Given the description of an element on the screen output the (x, y) to click on. 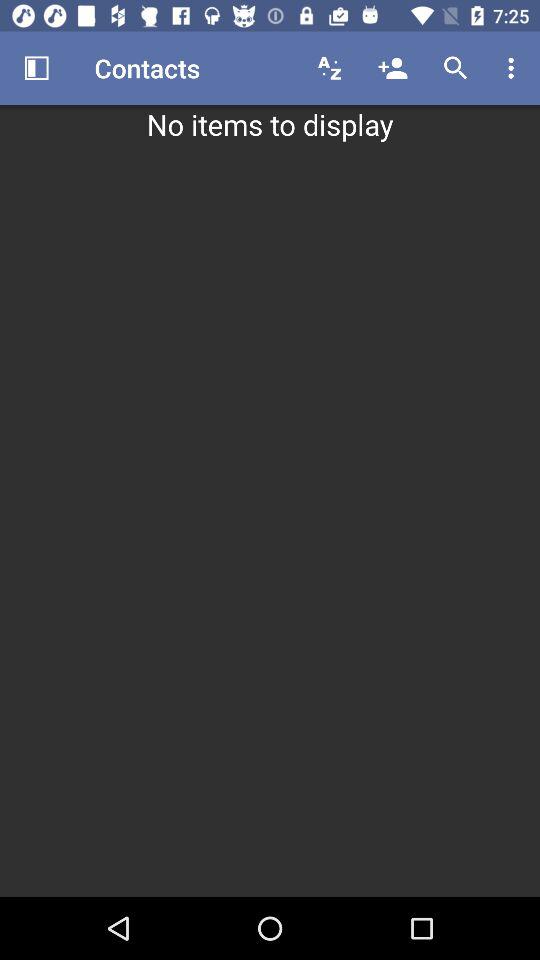
launch the icon to the left of the contacts icon (36, 68)
